Given the description of an element on the screen output the (x, y) to click on. 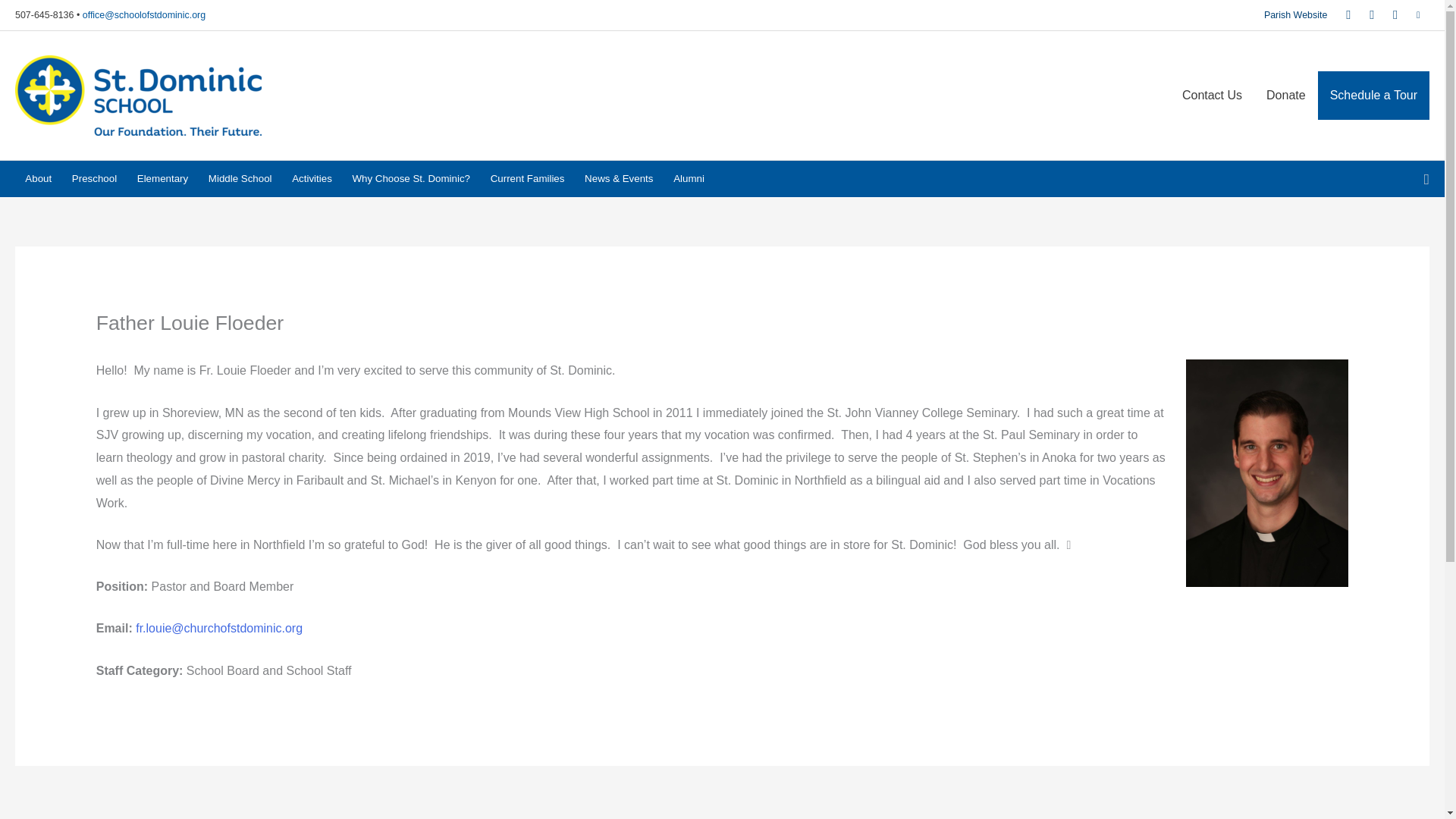
Donate (1285, 95)
Parish Website (1294, 15)
Contact Us (1211, 95)
Schedule a Tour (1373, 95)
